Given the description of an element on the screen output the (x, y) to click on. 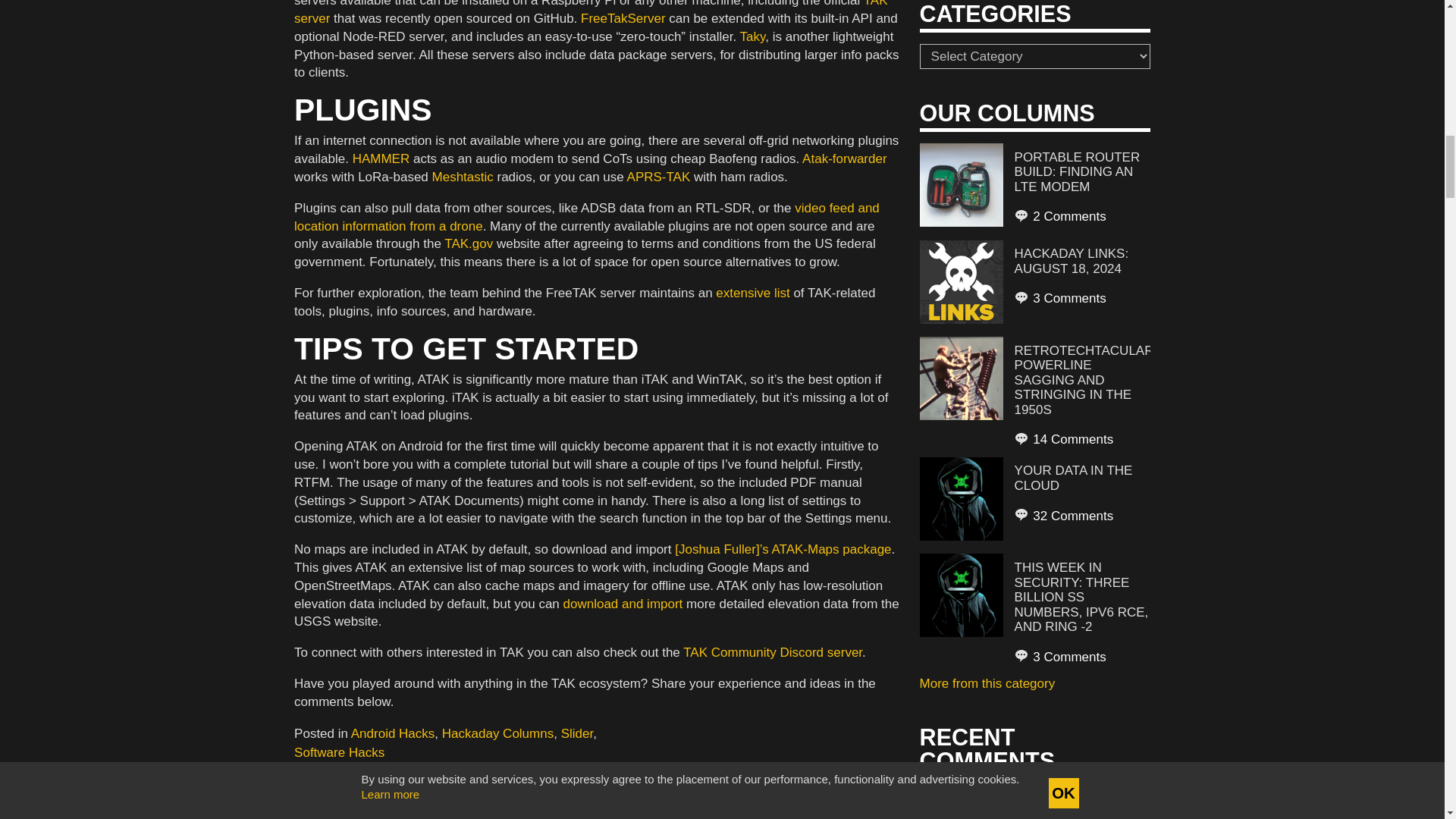
extensive list (752, 292)
TAK server (590, 12)
FreeTakServer (622, 18)
video feed and location information from a drone (586, 216)
TAK.gov (468, 243)
Taky (752, 36)
Atak-forwarder (844, 158)
HAMMER (381, 158)
Meshtastic (462, 176)
APRS-TAK (658, 176)
